Given the description of an element on the screen output the (x, y) to click on. 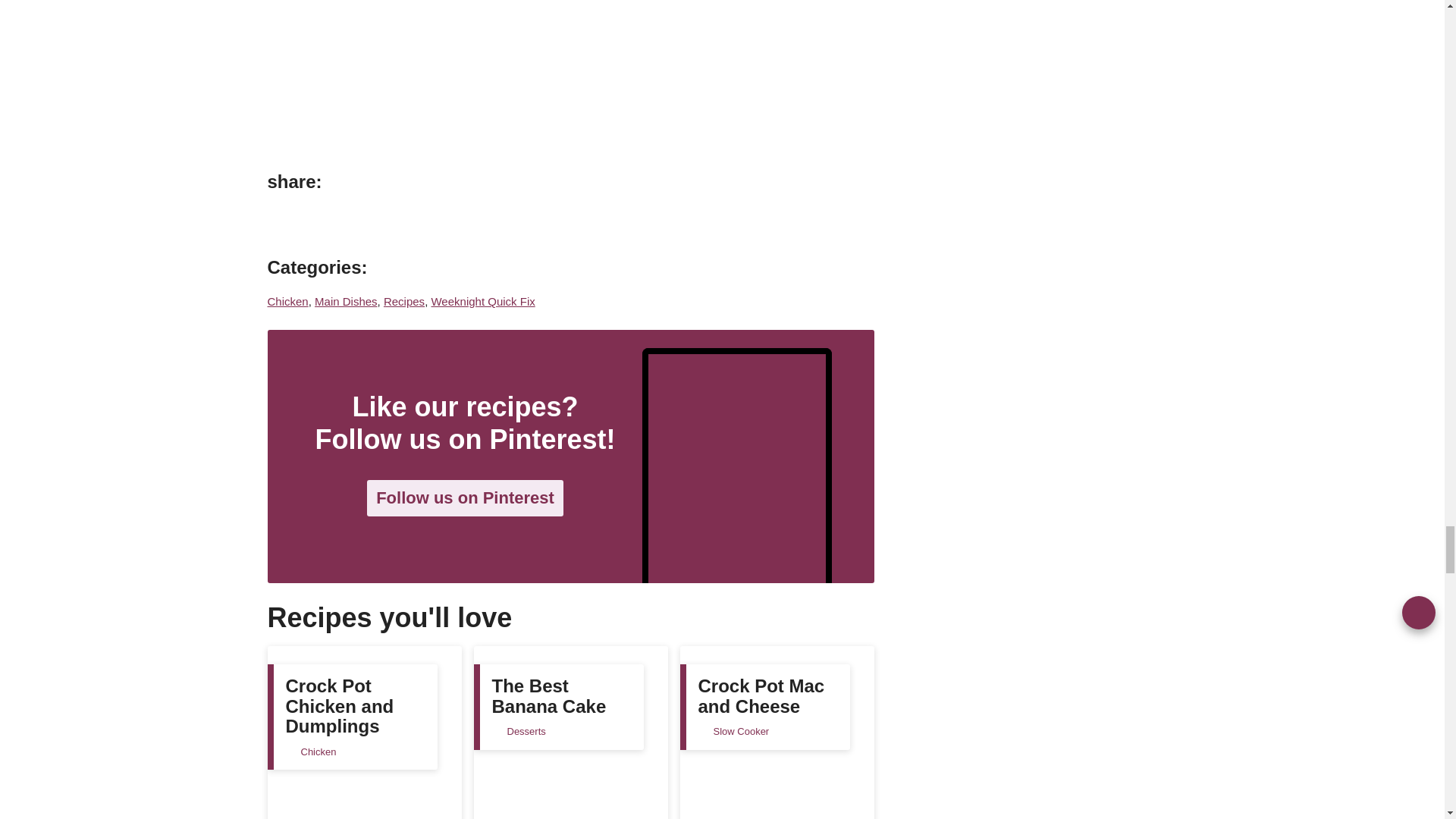
Share on Pinterest (282, 222)
Share via Email (416, 222)
Share on Facebook (316, 222)
Share on Yummly (383, 222)
Share on Twitter (349, 222)
